Given the description of an element on the screen output the (x, y) to click on. 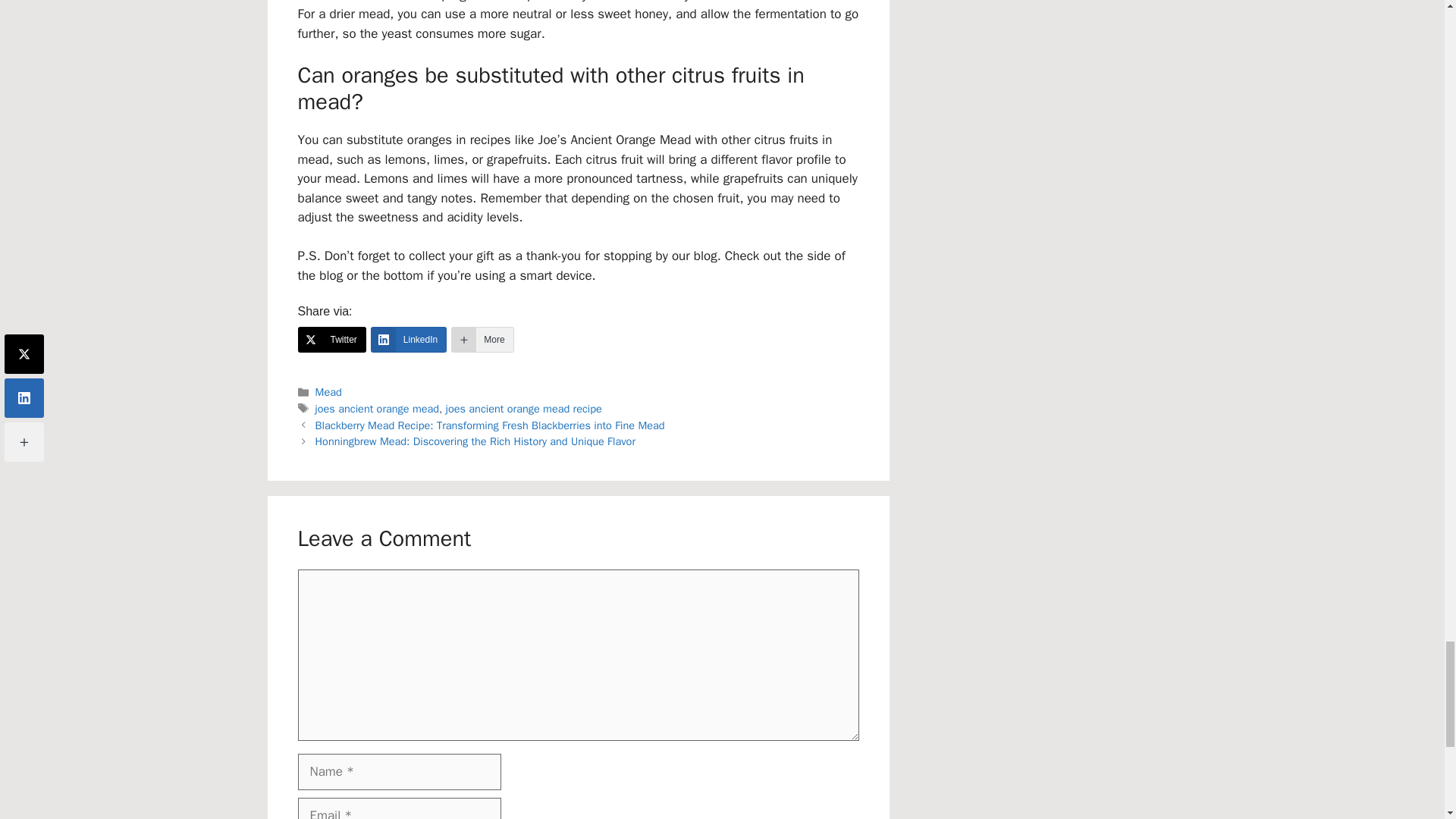
Mead (328, 391)
joes ancient orange mead (377, 408)
More (482, 339)
LinkedIn (408, 339)
Twitter (331, 339)
